Given the description of an element on the screen output the (x, y) to click on. 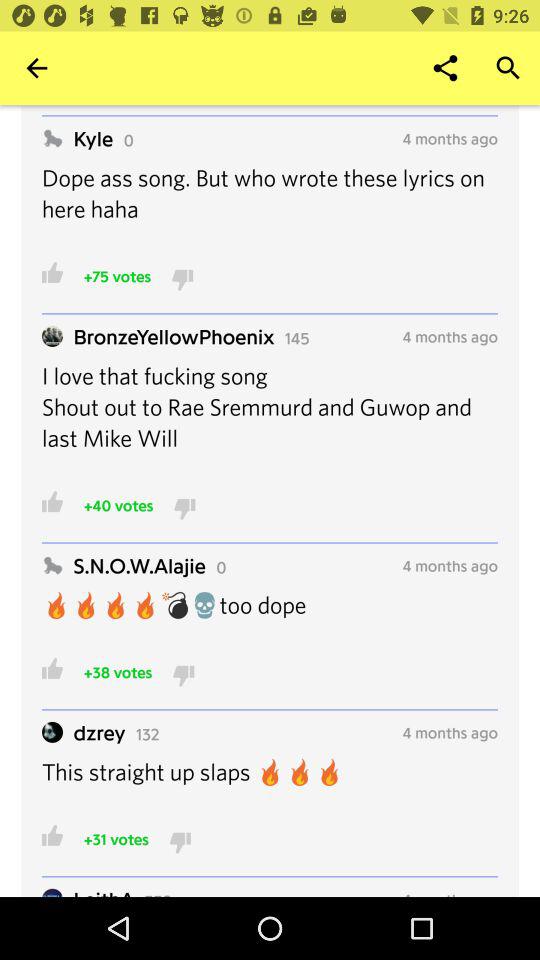
tap +31 votes item (116, 838)
